Given the description of an element on the screen output the (x, y) to click on. 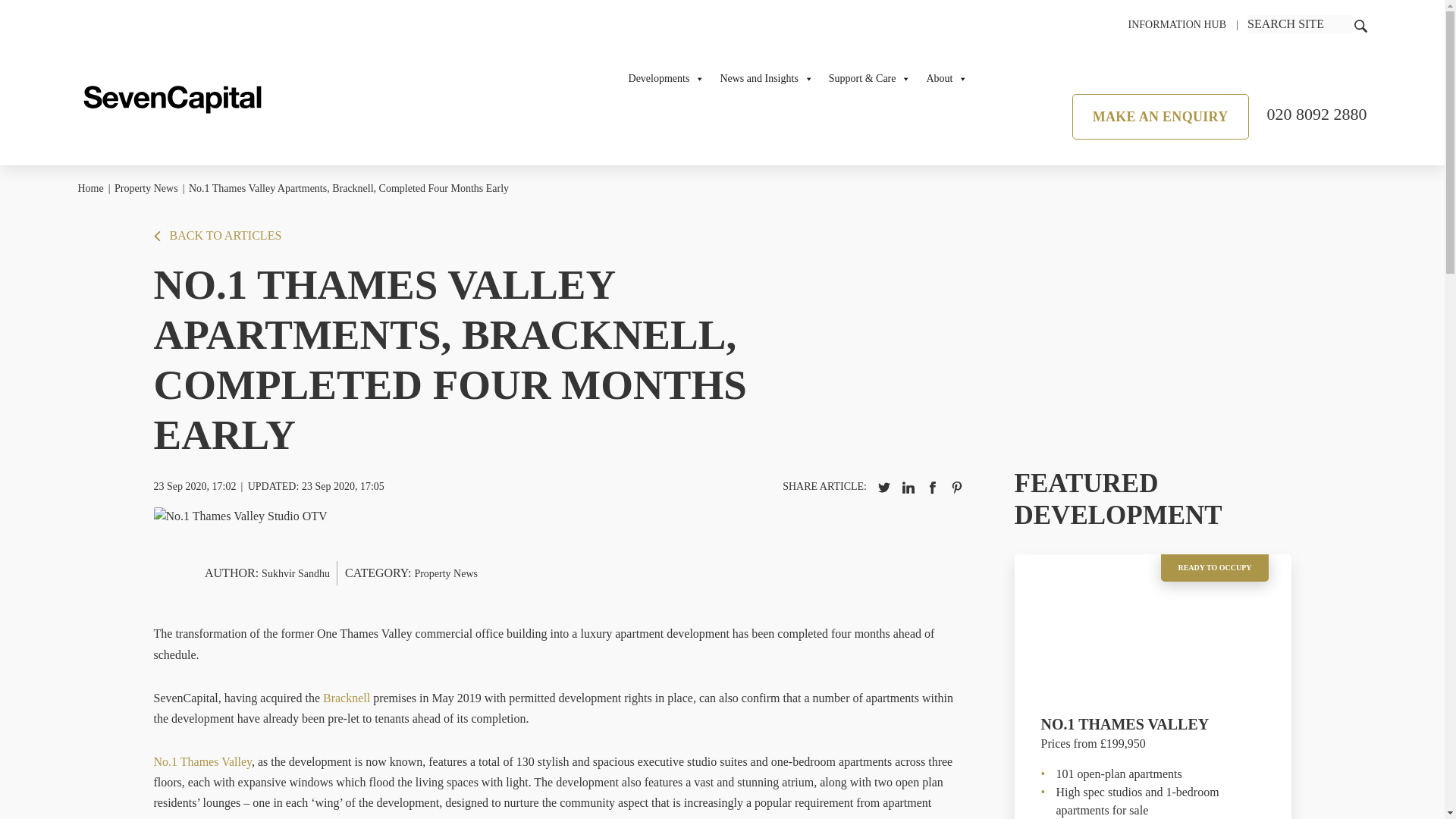
Seven Capital Logo (171, 98)
Search (1300, 24)
Developments (667, 78)
Seven Capital Logo (171, 95)
INFORMATION HUB (1175, 24)
Search (1360, 25)
